Given the description of an element on the screen output the (x, y) to click on. 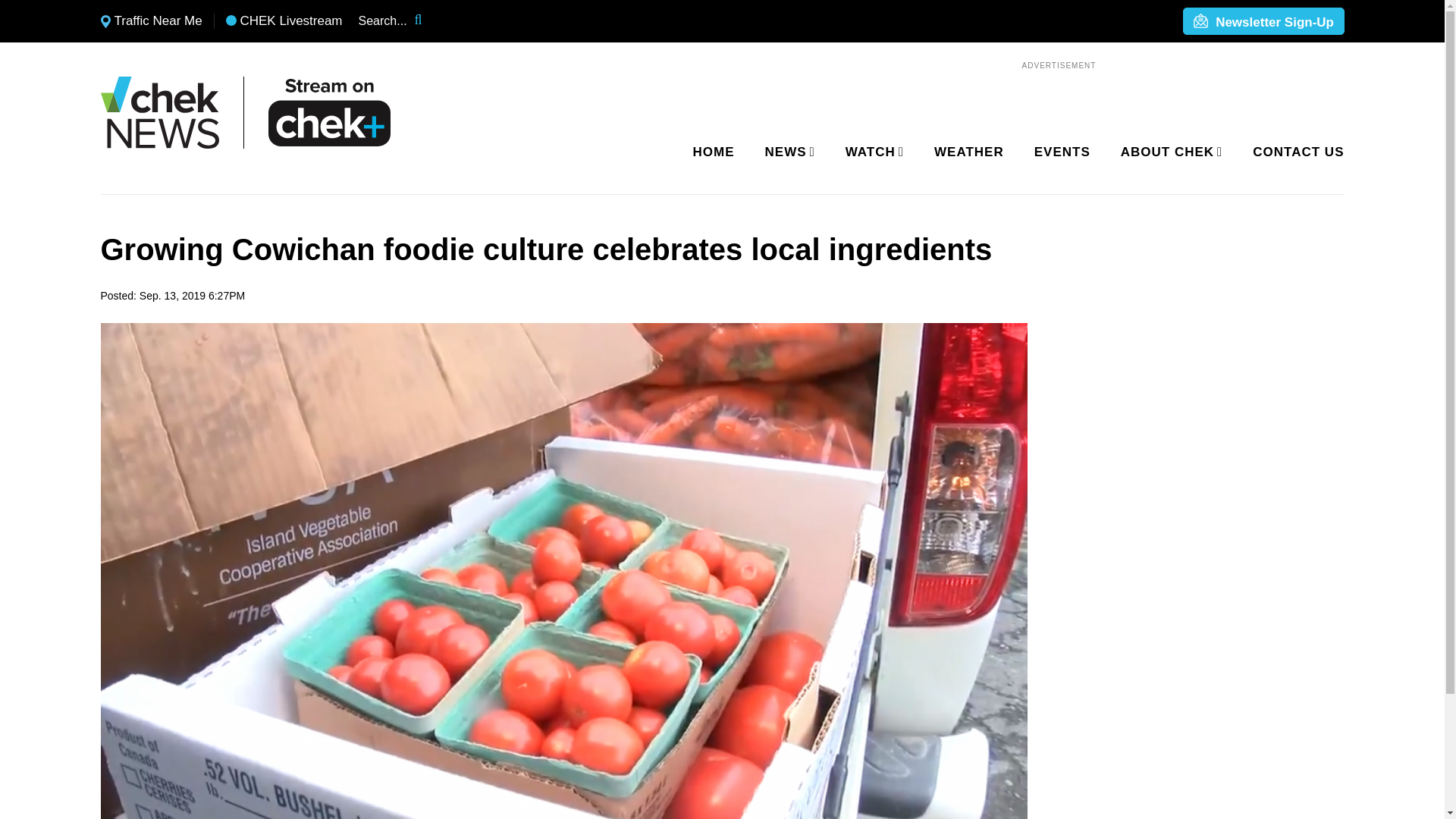
HOME (714, 152)
Newsletter Sign-Up (1262, 22)
CHEK Livestream (283, 20)
Traffic Near Me (151, 20)
NEWS (787, 152)
Search (428, 21)
